Given the description of an element on the screen output the (x, y) to click on. 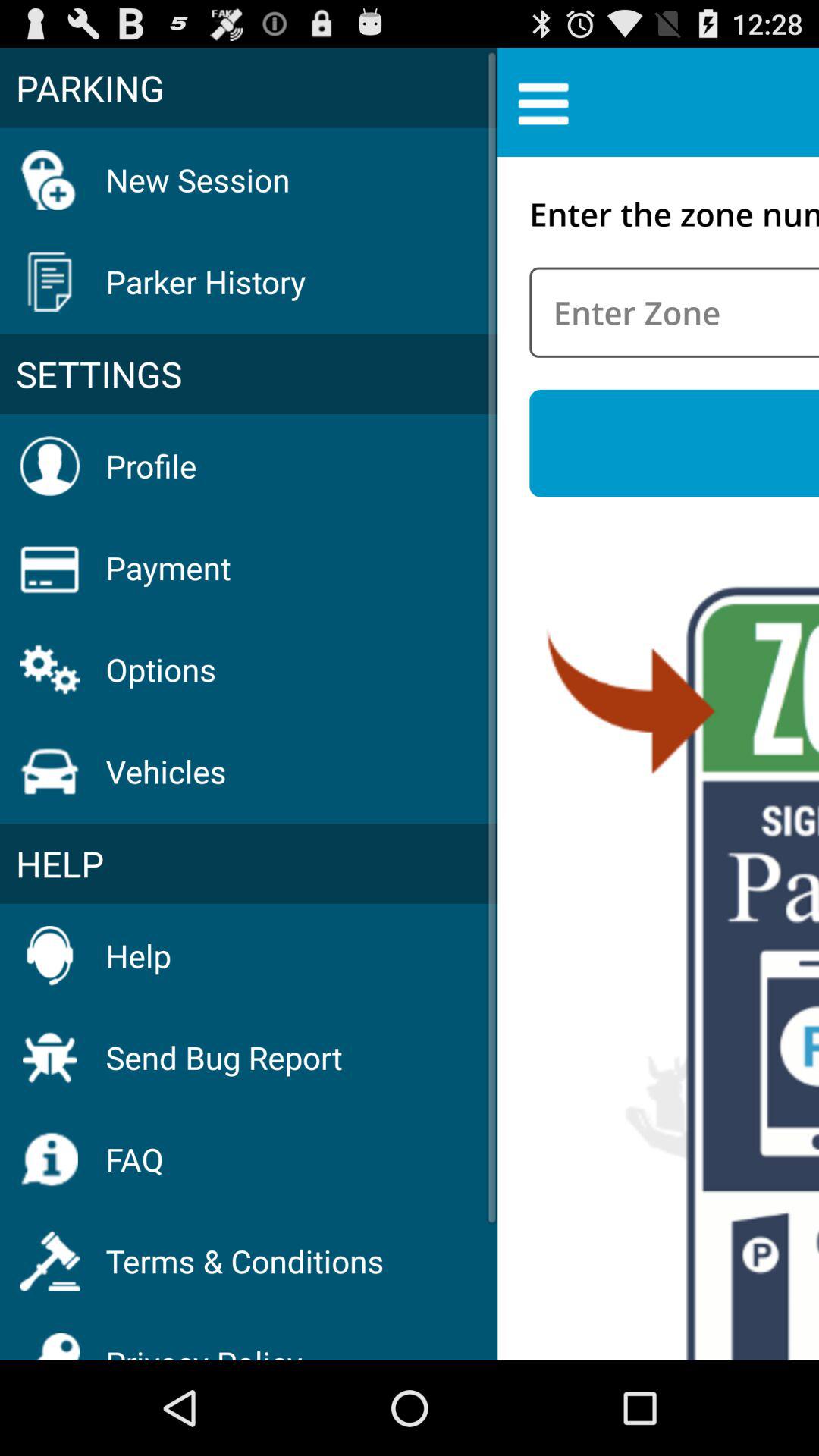
scroll to the parker history (205, 281)
